Given the description of an element on the screen output the (x, y) to click on. 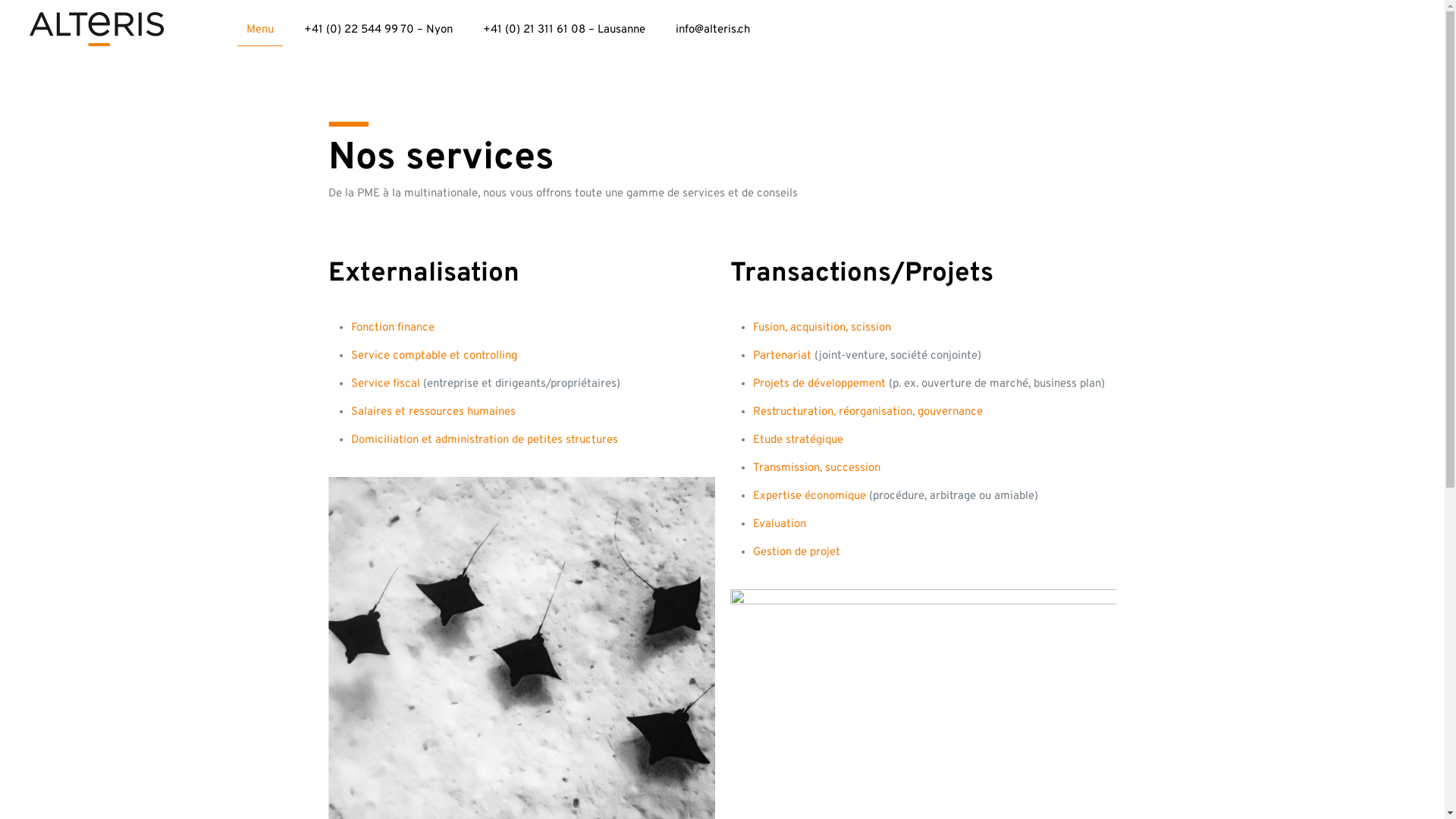
Domiciliation et administration de petites structures Element type: text (484, 440)
Fusion, acquisition, scission Element type: text (821, 327)
Salaires et ressources humaines Element type: text (433, 411)
Partenariat Element type: text (781, 355)
info@alteris.ch Element type: text (712, 30)
Fonction finance Element type: text (392, 327)
Alteris Element type: hover (96, 30)
Service fiscal Element type: text (385, 383)
Service comptable et controlling Element type: text (434, 355)
Gestion de projet Element type: text (795, 552)
Menu Element type: text (259, 30)
Evaluation Element type: text (778, 524)
Transmission, succession Element type: text (815, 468)
